Given the description of an element on the screen output the (x, y) to click on. 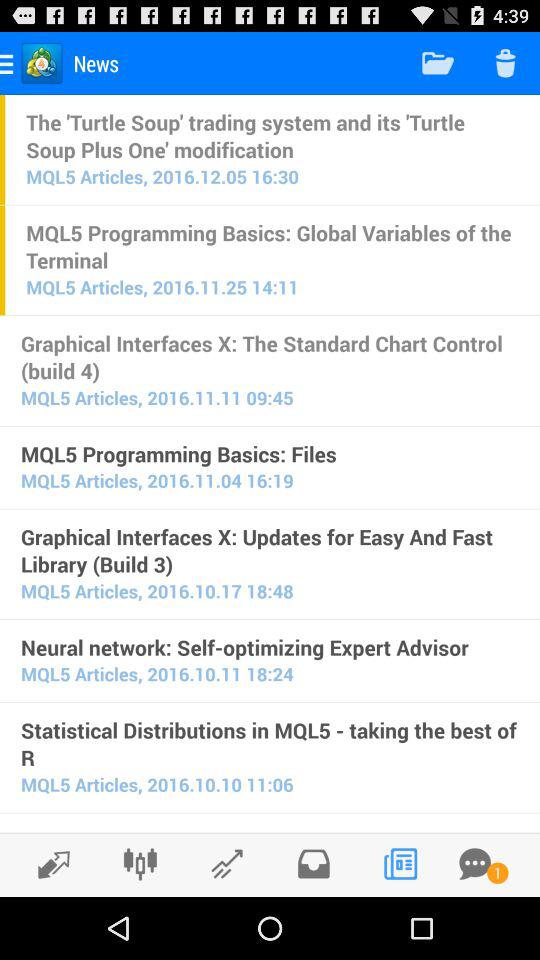
flip to neural network self item (270, 647)
